Given the description of an element on the screen output the (x, y) to click on. 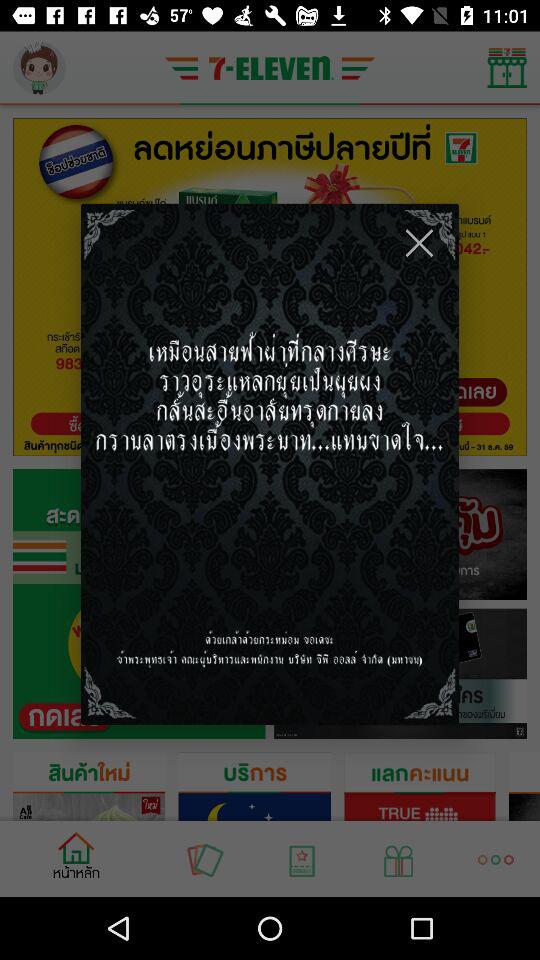
turn off icon at the top right corner (419, 242)
